Given the description of an element on the screen output the (x, y) to click on. 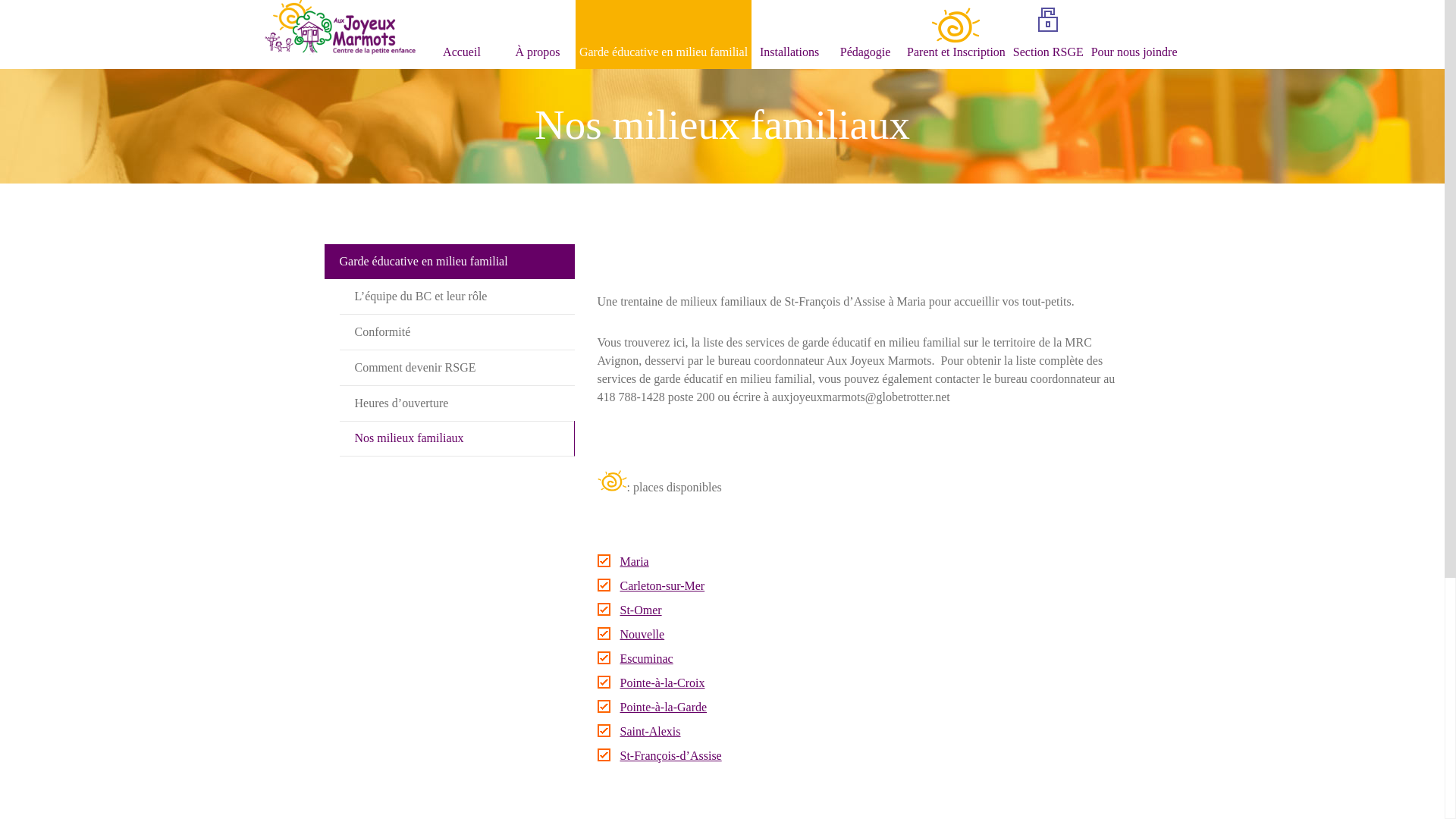
Installations Element type: text (789, 34)
Escuminac Element type: text (646, 658)
St-Omer Element type: text (641, 609)
Comment devenir RSGE Element type: text (456, 367)
Carleton-sur-Mer Element type: text (662, 585)
Pour nous joindre Element type: text (1134, 34)
Parent et Inscription Element type: text (956, 34)
Nos milieux familiaux Element type: text (456, 438)
Nouvelle Element type: text (642, 633)
Saint-Alexis Element type: text (650, 730)
Section RSGE Element type: text (1048, 34)
Maria Element type: text (634, 561)
Accueil Element type: text (461, 34)
